Given the description of an element on the screen output the (x, y) to click on. 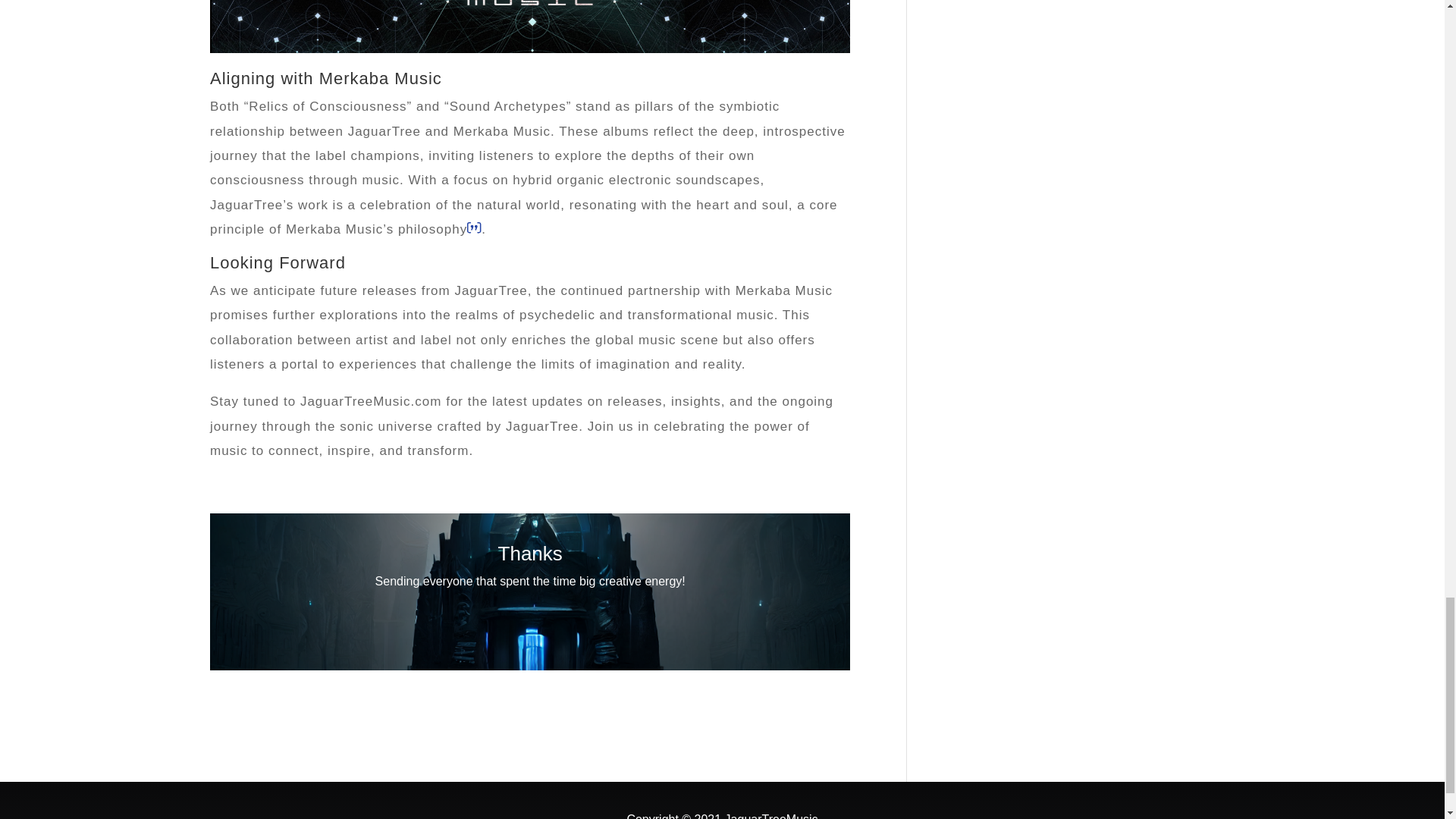
Merkaba Music - JaguarTree (529, 27)
